Given the description of an element on the screen output the (x, y) to click on. 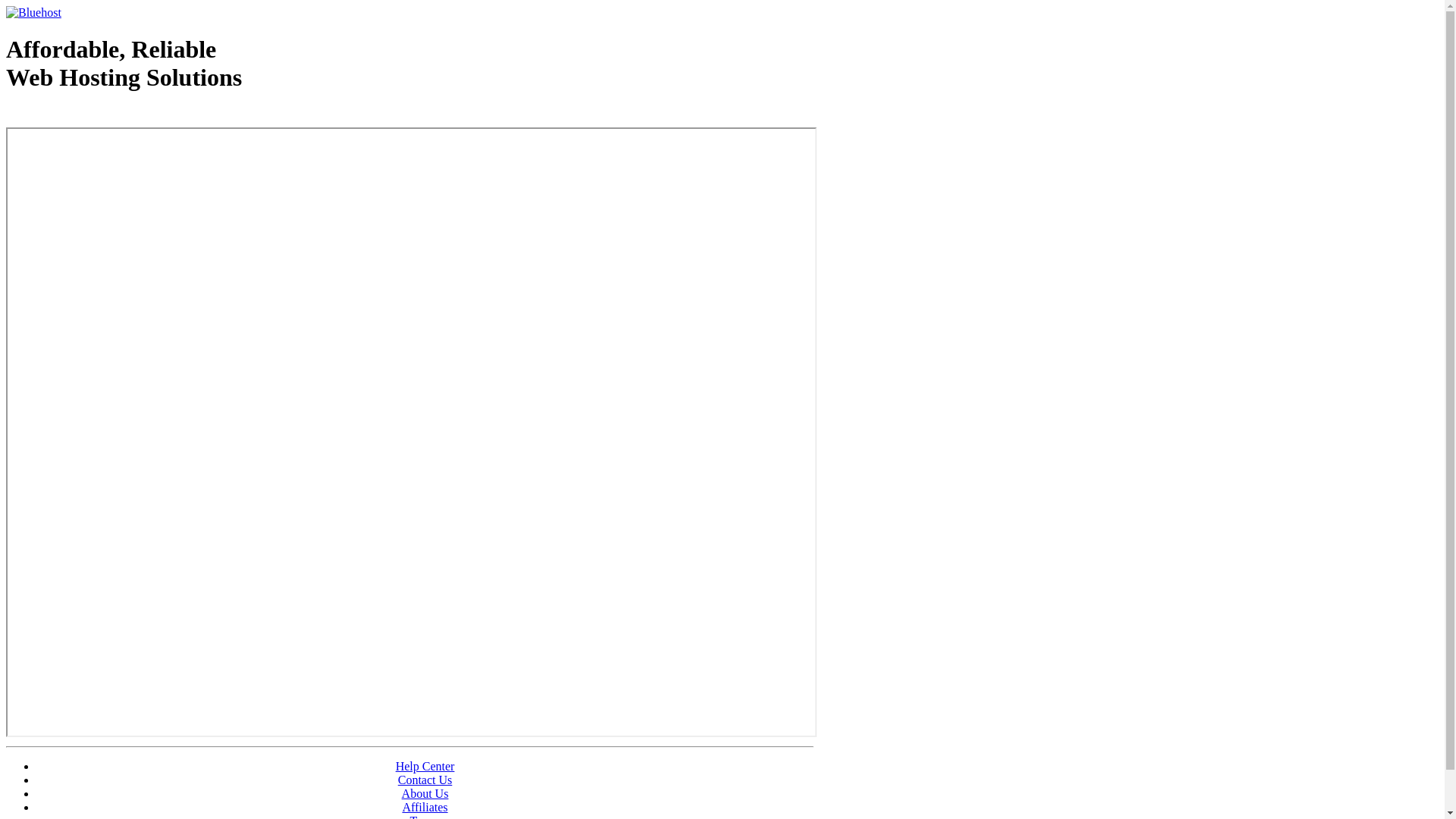
Web Hosting - courtesy of www.bluehost.com Element type: text (94, 115)
Help Center Element type: text (425, 765)
About Us Element type: text (424, 793)
Contact Us Element type: text (425, 779)
Affiliates Element type: text (424, 806)
